Given the description of an element on the screen output the (x, y) to click on. 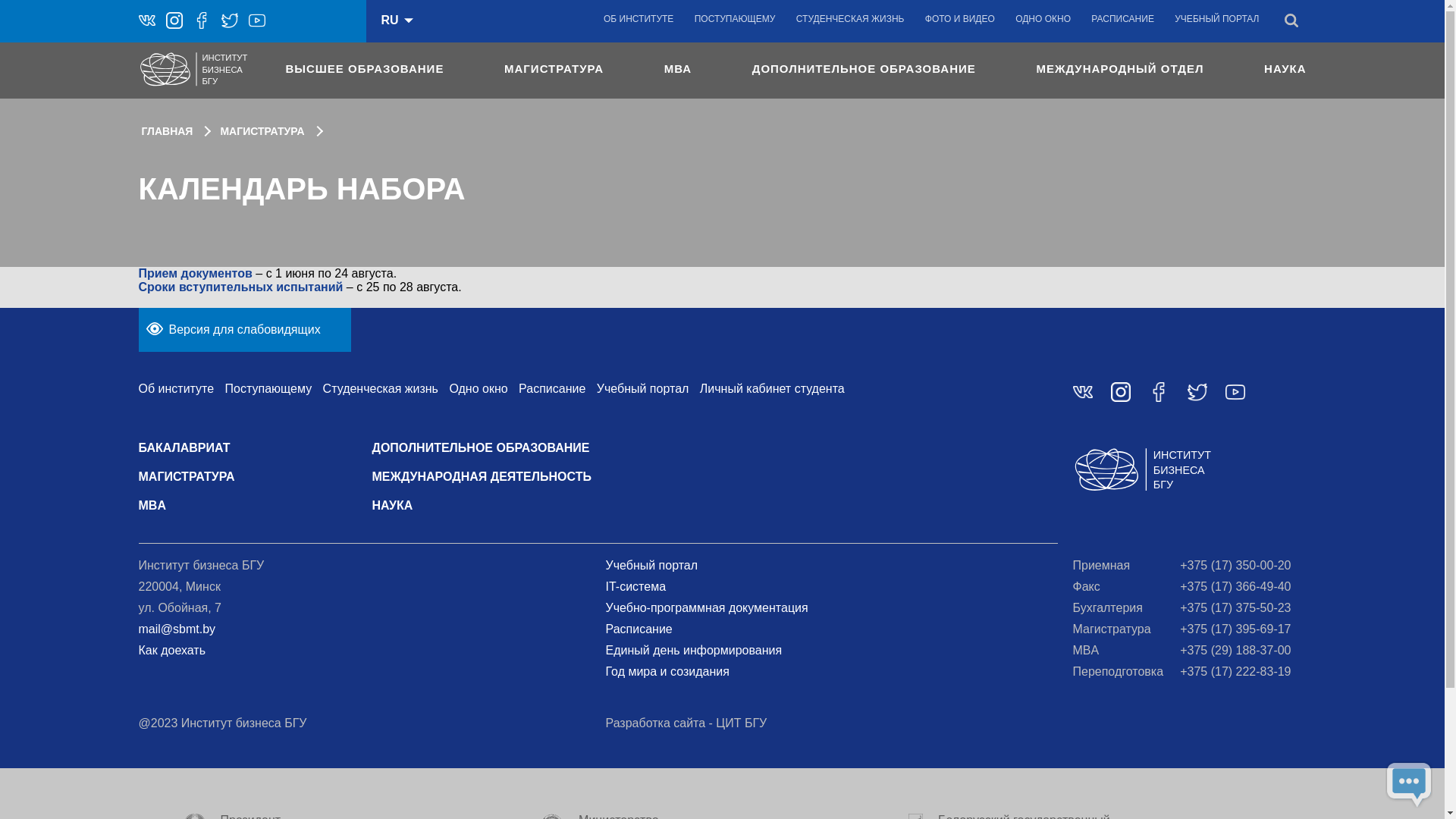
mail@sbmt.by Element type: text (176, 628)
